Given the description of an element on the screen output the (x, y) to click on. 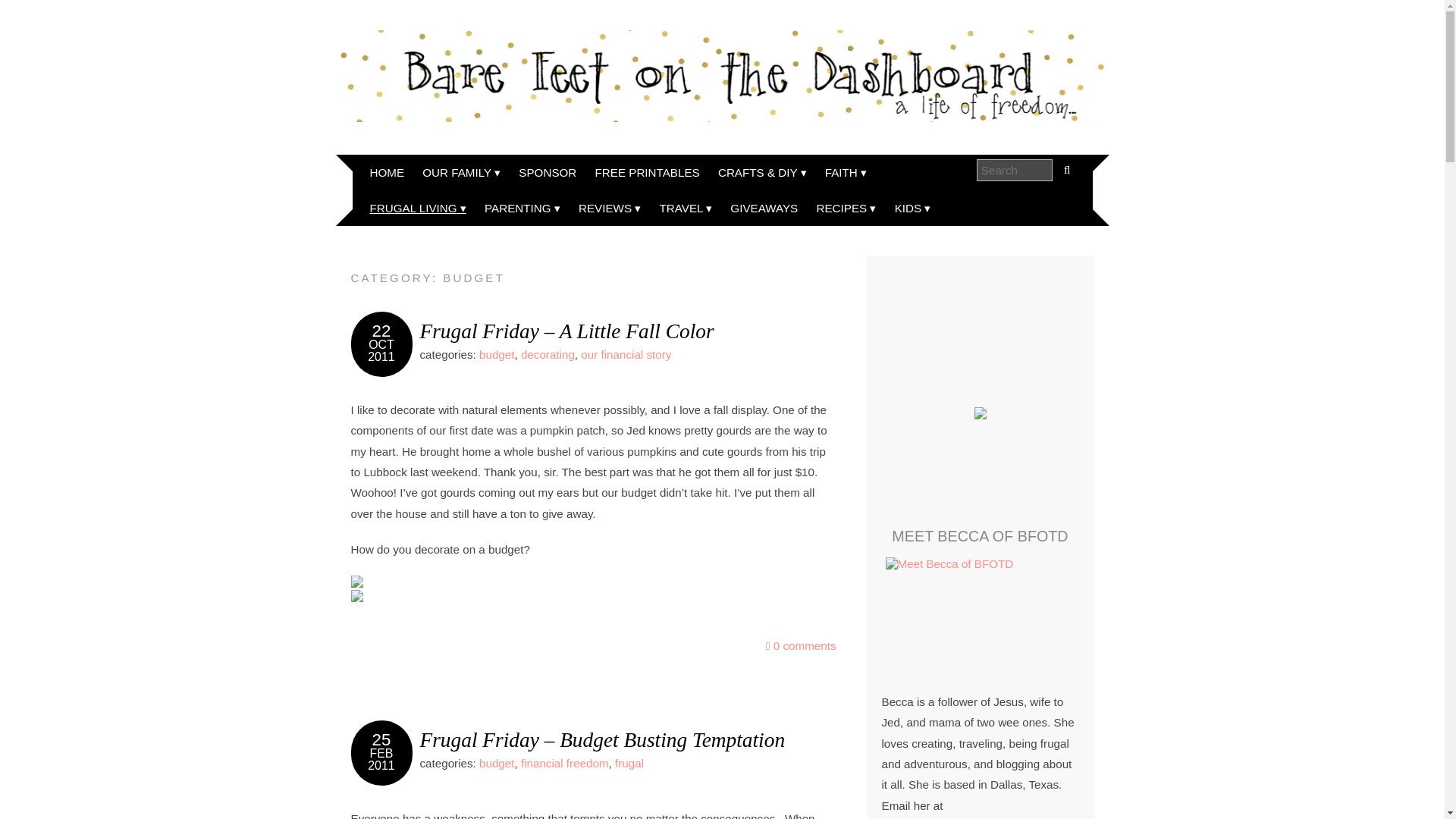
FREE PRINTABLES (647, 172)
PARENTING (522, 208)
OUR FAMILY (461, 172)
FAITH (845, 172)
Recipes (845, 208)
SPONSOR (547, 172)
Bare Feet on the Dashboard (721, 76)
FRUGAL LIVING (418, 208)
giveaway (763, 208)
TRAVEL (686, 208)
